Given the description of an element on the screen output the (x, y) to click on. 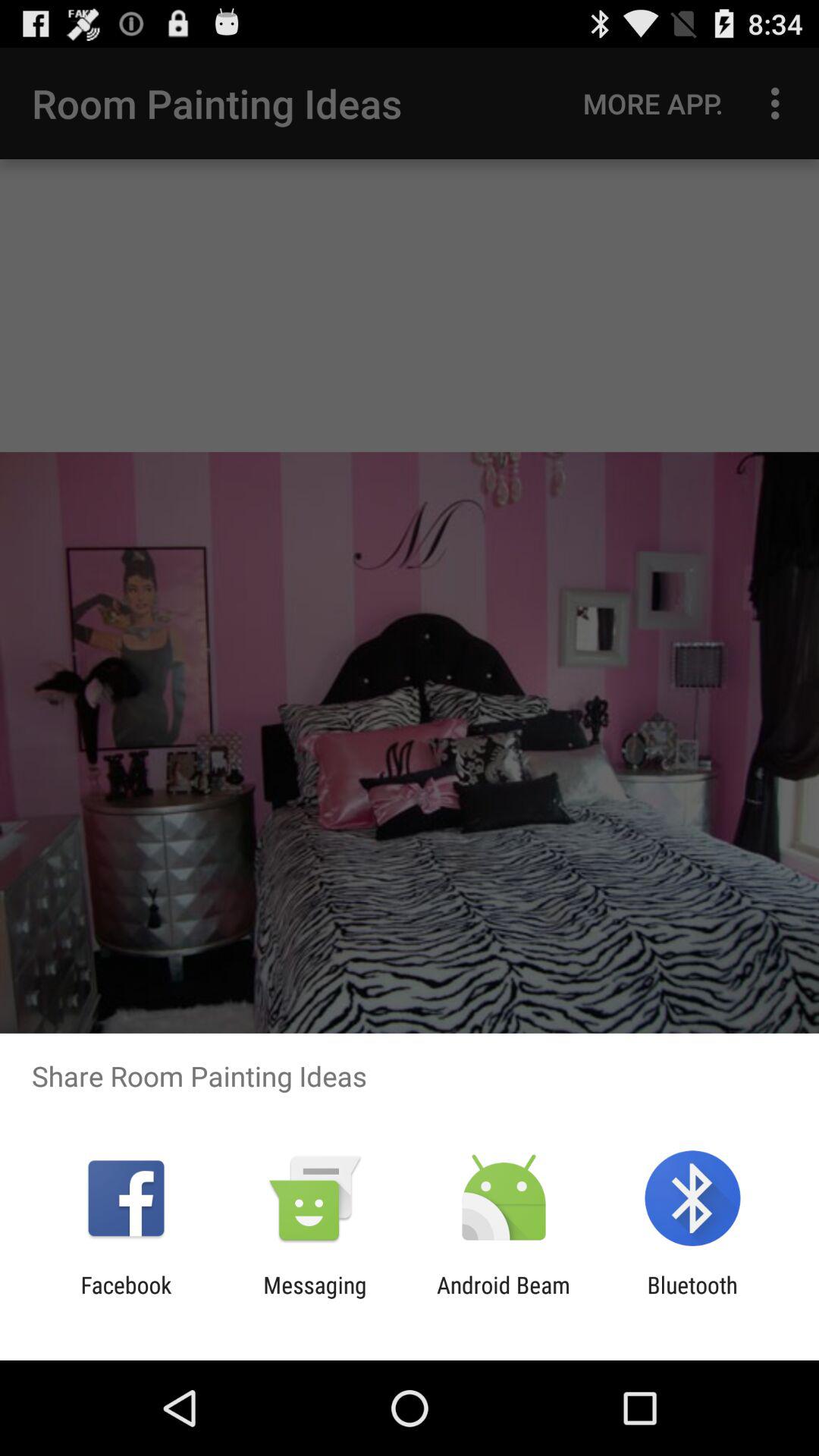
tap the android beam app (503, 1298)
